Given the description of an element on the screen output the (x, y) to click on. 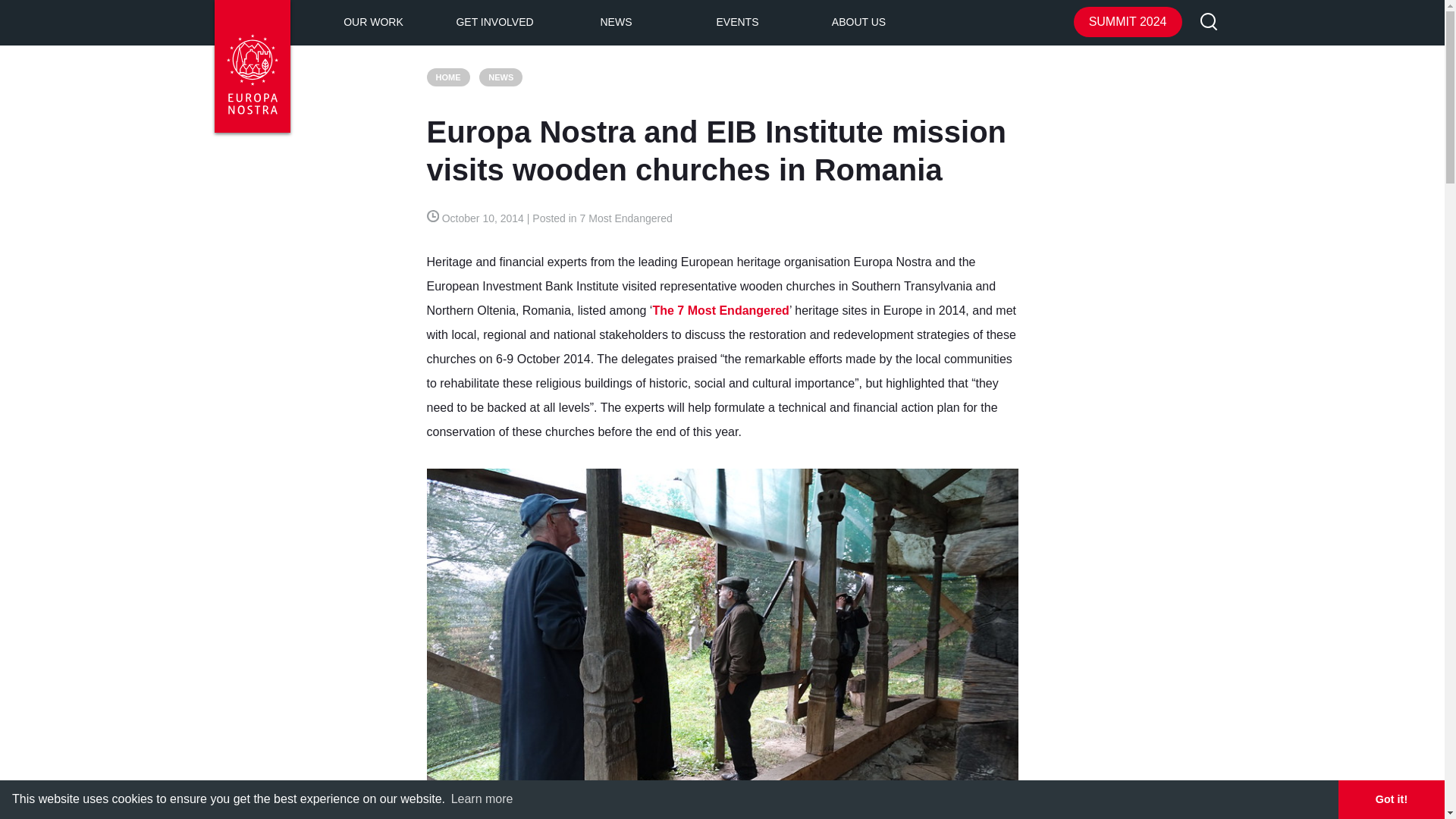
Posts (500, 76)
GET INVOLVED (493, 22)
EVENTS (737, 22)
OUR WORK (373, 22)
ABOUT US (857, 22)
seach (1209, 22)
Learn more (481, 798)
Home (447, 76)
NEWS (615, 22)
